Given the description of an element on the screen output the (x, y) to click on. 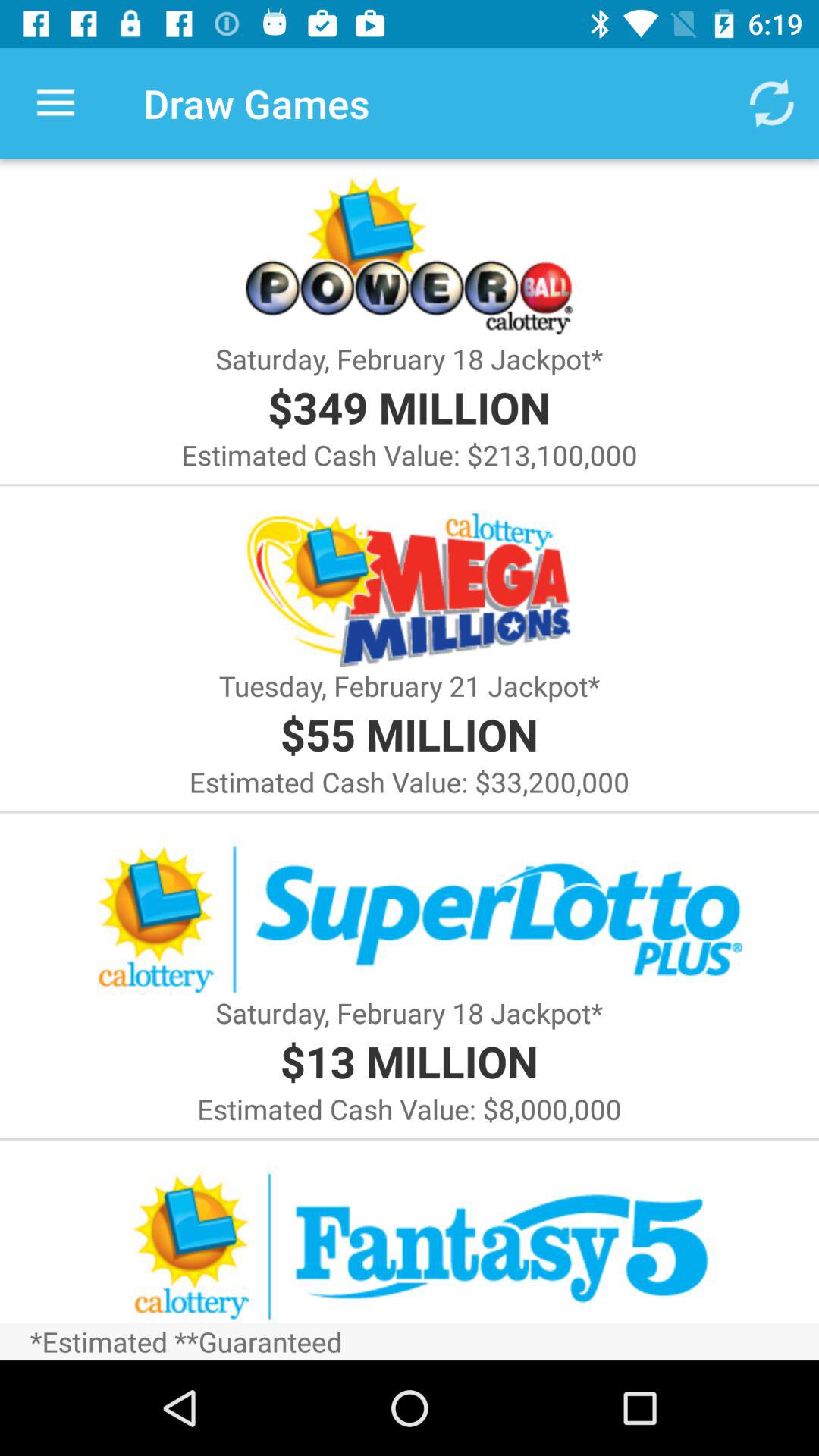
choose the app next to the draw games icon (771, 103)
